Given the description of an element on the screen output the (x, y) to click on. 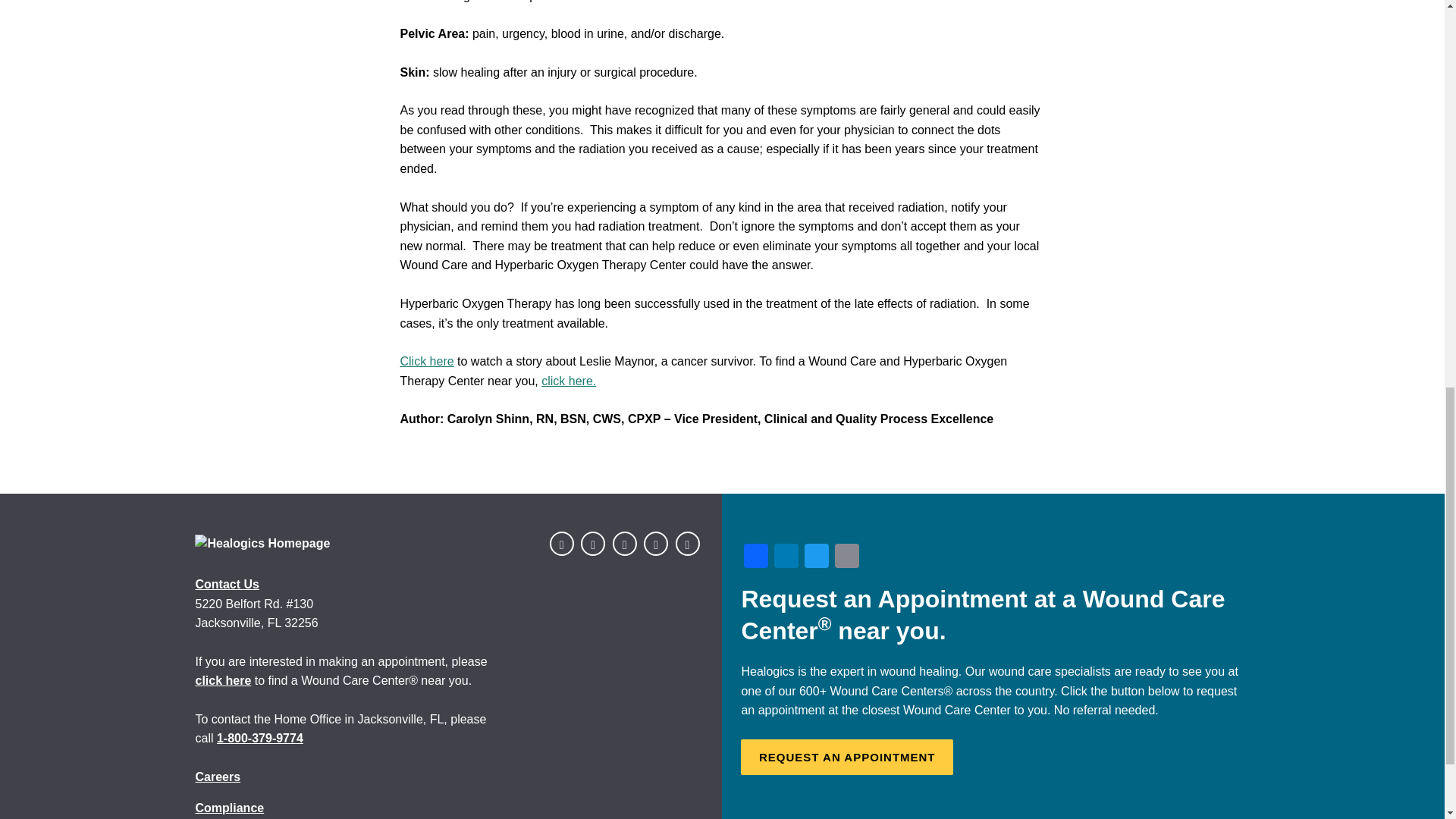
Twitter (816, 557)
Email (846, 557)
Facebook (756, 557)
LinkedIn (786, 557)
